Given the description of an element on the screen output the (x, y) to click on. 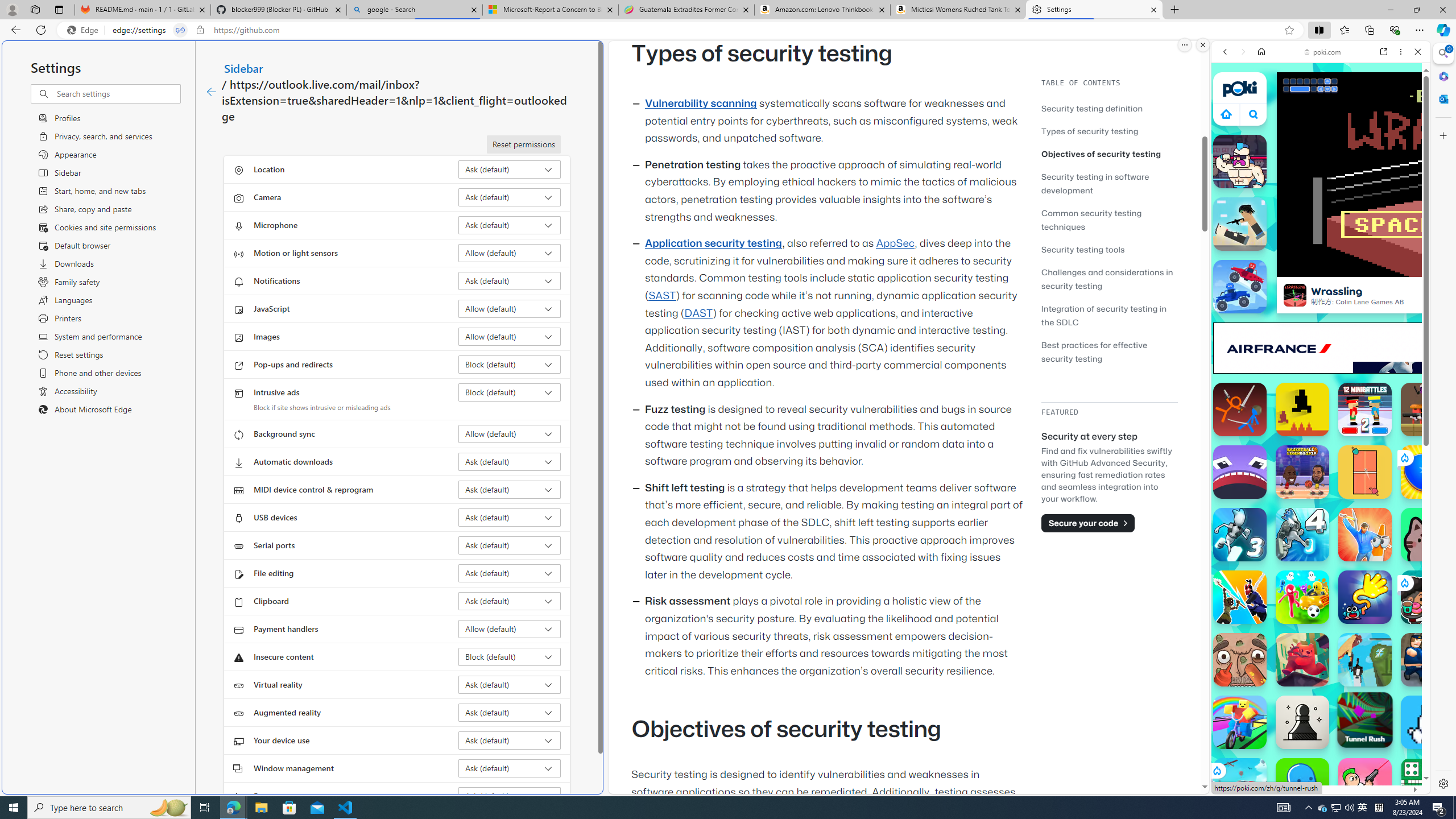
Sports Games (1320, 378)
Ludo Multiplayer (1427, 784)
Your device use Ask (default) (509, 740)
Class: hvLtMSipvVng82x9Seuh (1294, 295)
G-Switch 4 (1302, 534)
Bullet Bros Bullet Bros (1364, 784)
Show More Two Player Games (1390, 323)
Show More Car Games (1390, 268)
Reset permissions (523, 144)
Catpad Catpad (1427, 534)
Gobble (1239, 471)
Level Devil (1302, 409)
Clipboard Ask (default) (509, 601)
